Given the description of an element on the screen output the (x, y) to click on. 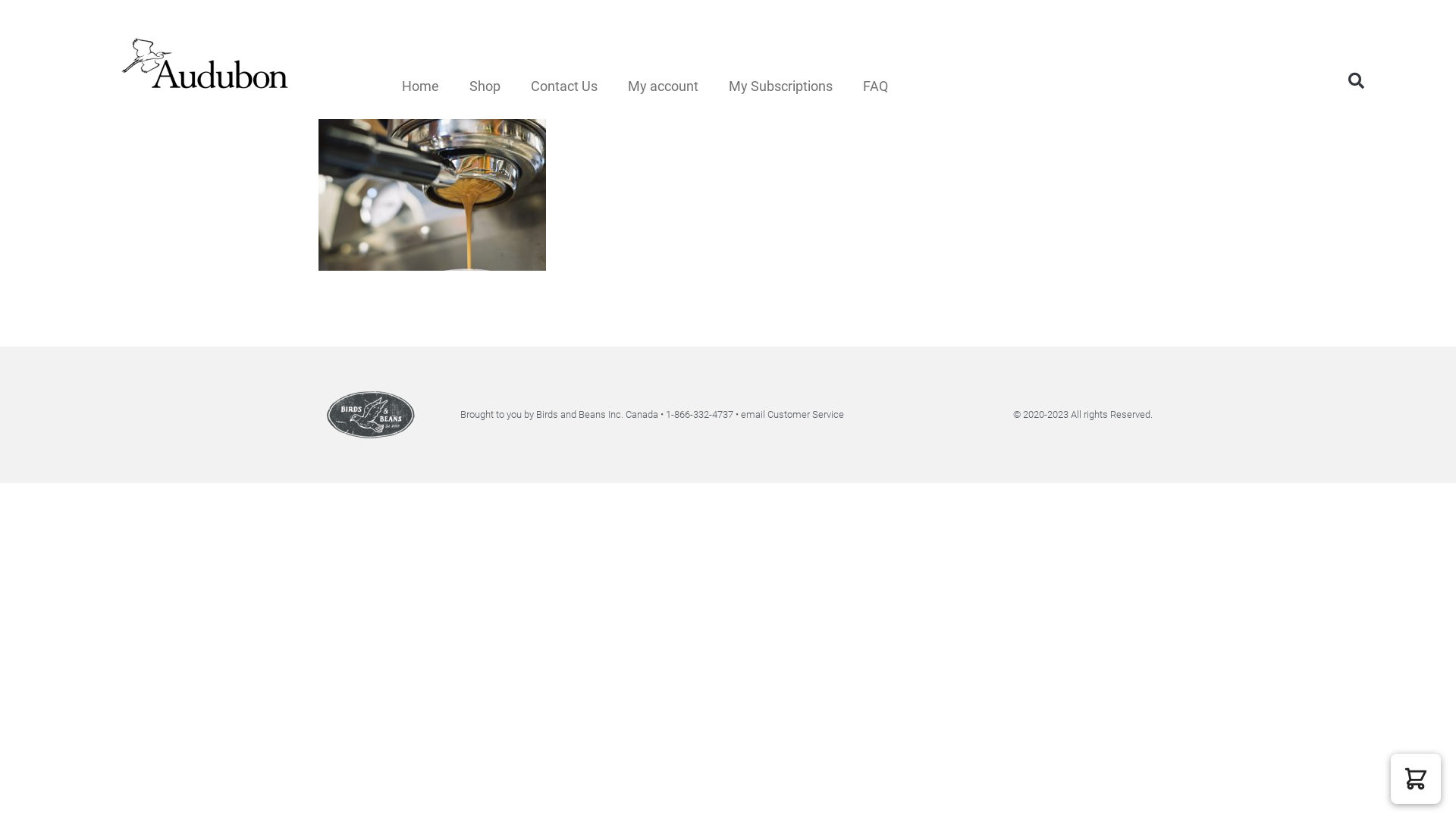
email Customer Service Element type: text (792, 414)
Home Element type: text (420, 86)
Contact Us Element type: text (563, 86)
Shop Element type: text (484, 86)
B&B_LogoTrans Element type: hover (370, 414)
My account Element type: text (662, 86)
My Subscriptions Element type: text (780, 86)
FAQ Element type: text (875, 86)
